Given the description of an element on the screen output the (x, y) to click on. 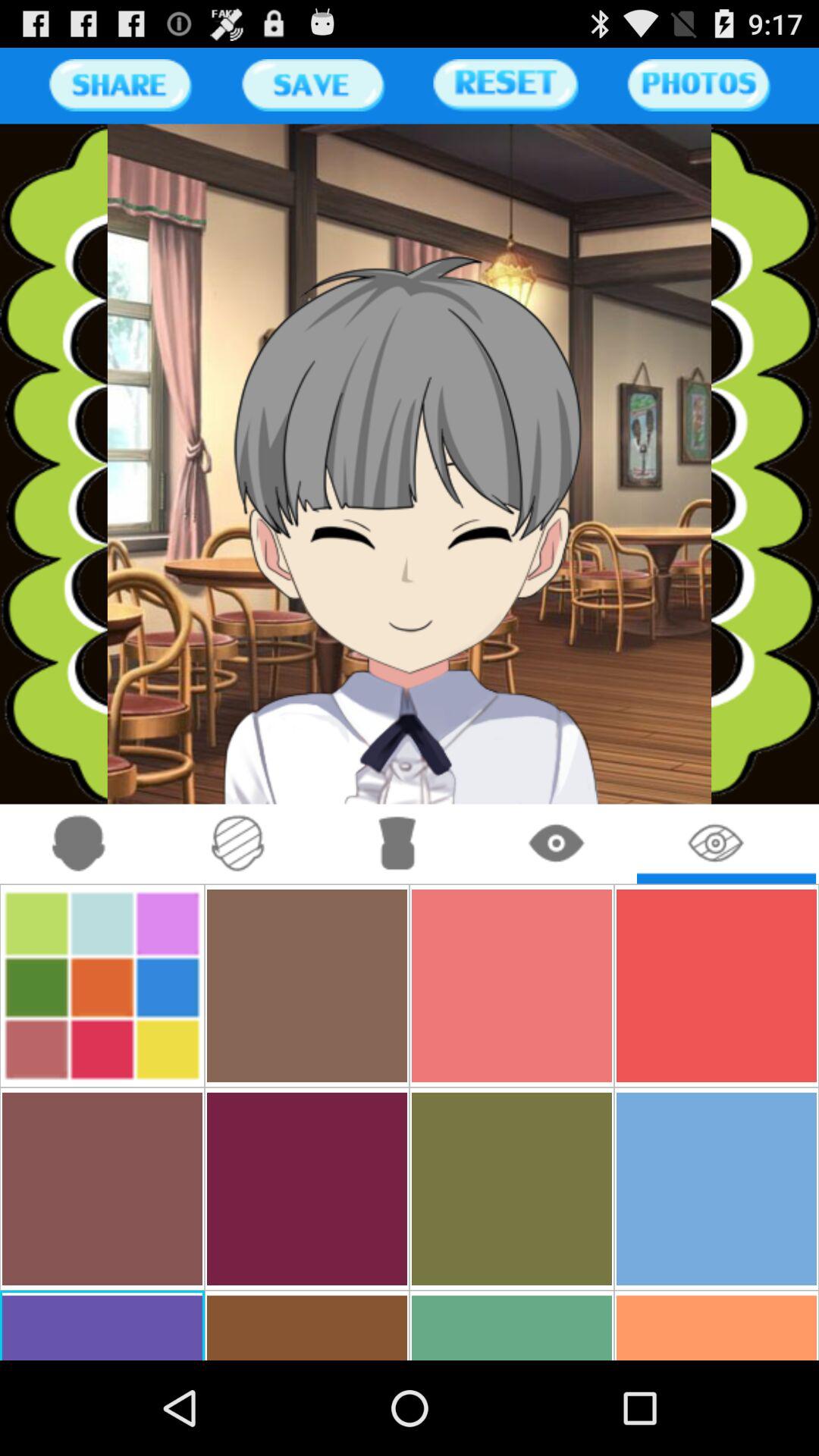
open photos (698, 85)
